Given the description of an element on the screen output the (x, y) to click on. 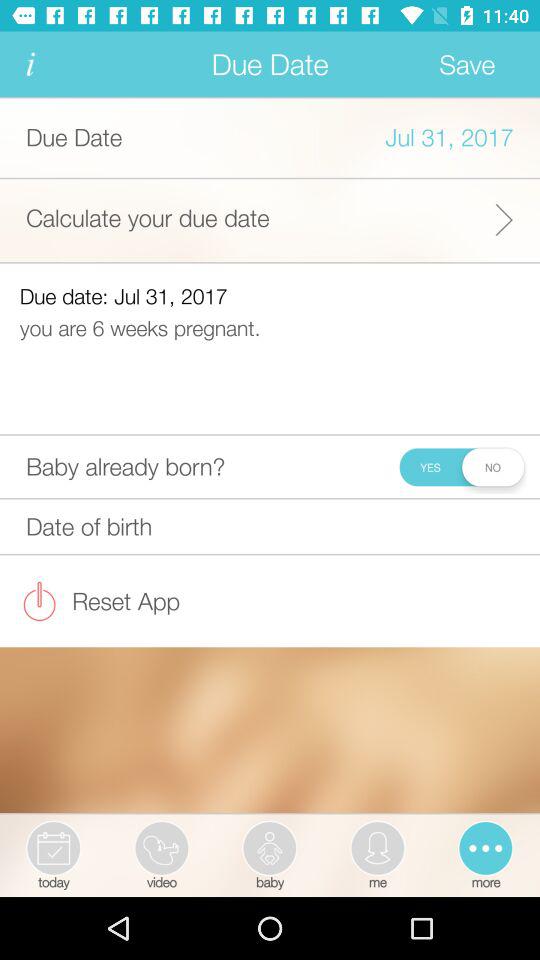
more information (30, 63)
